Given the description of an element on the screen output the (x, y) to click on. 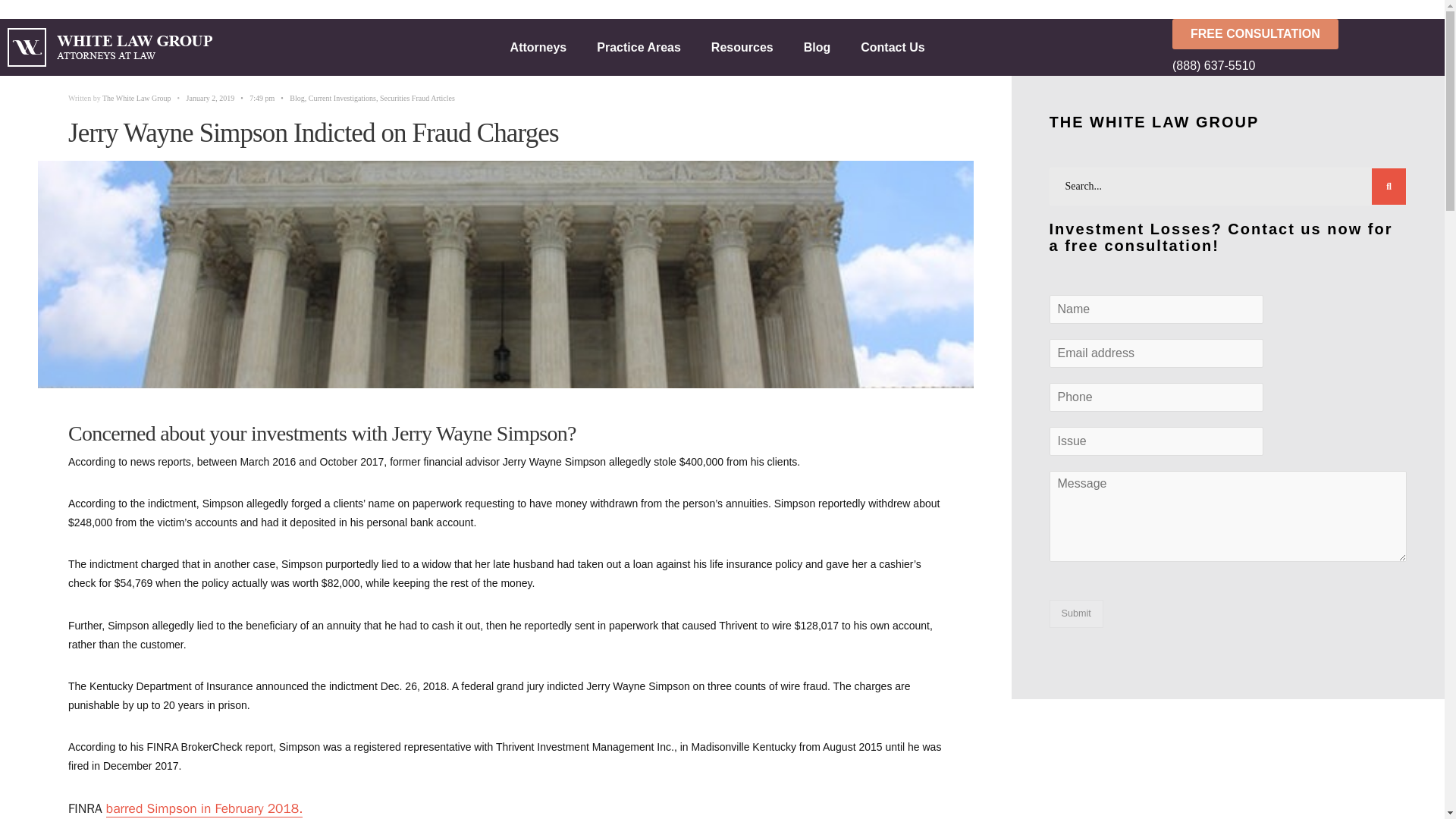
Resources (742, 47)
Posts by The White Law Group (136, 98)
Contact Us (892, 47)
Search... (1228, 186)
Blog (817, 47)
Practice Areas (637, 47)
Attorneys (538, 47)
